Given the description of an element on the screen output the (x, y) to click on. 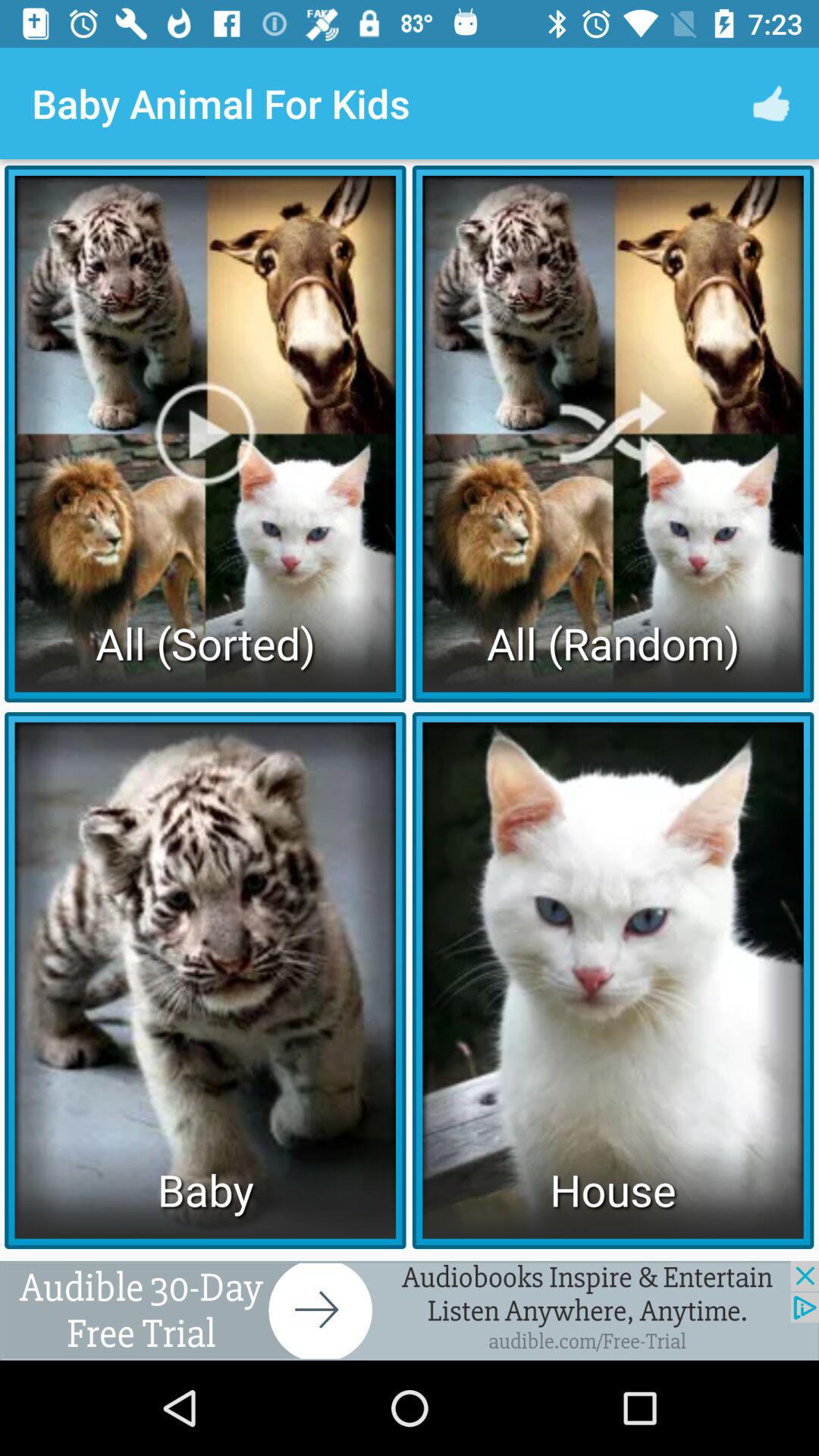
go to next (409, 1310)
